Given the description of an element on the screen output the (x, y) to click on. 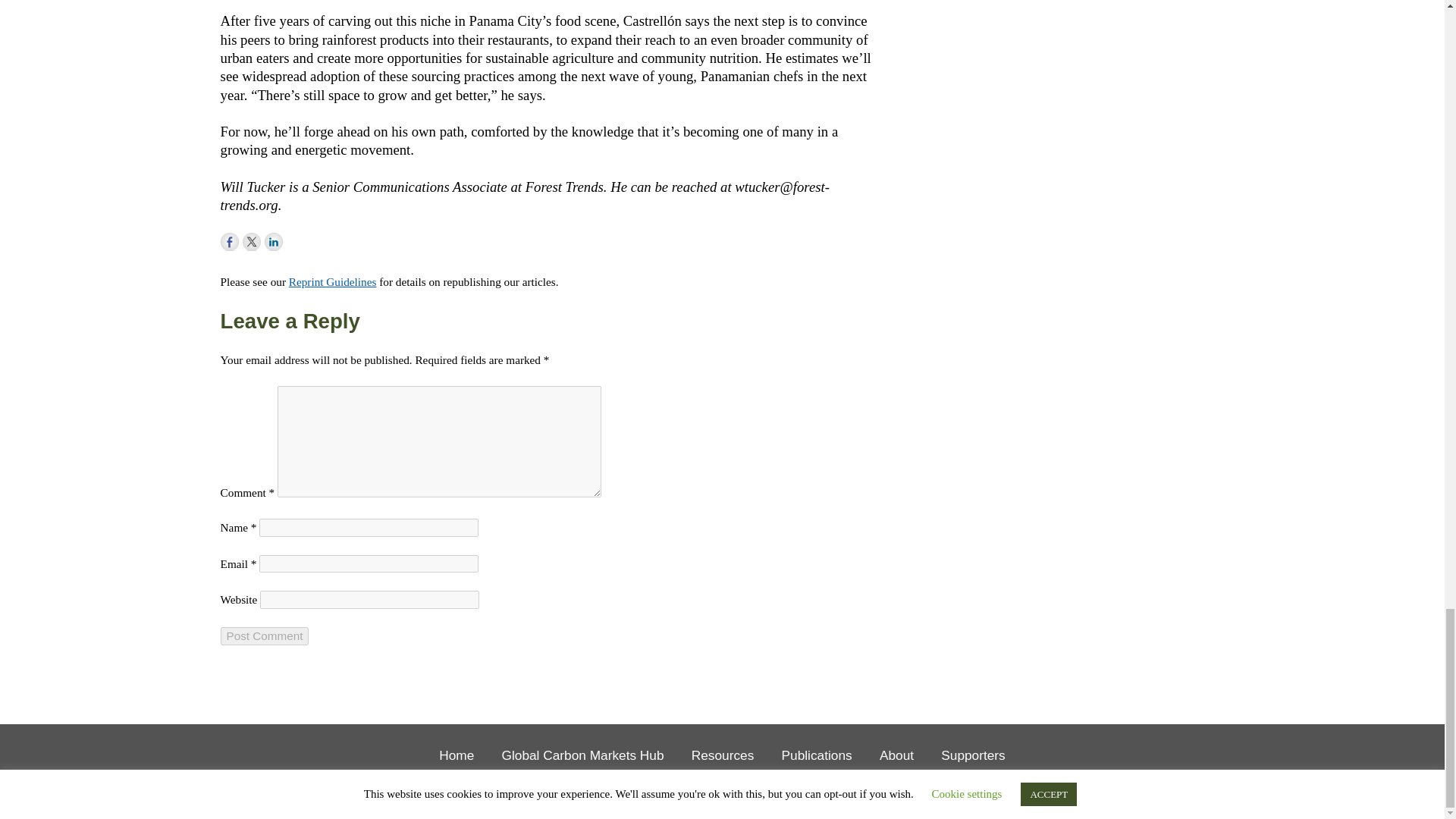
Reprint Guidelines (332, 281)
Find us on Linkedin (273, 241)
Follow us on Twitter (251, 241)
Post Comment (264, 636)
Follow us on Facebook (229, 241)
